Given the description of an element on the screen output the (x, y) to click on. 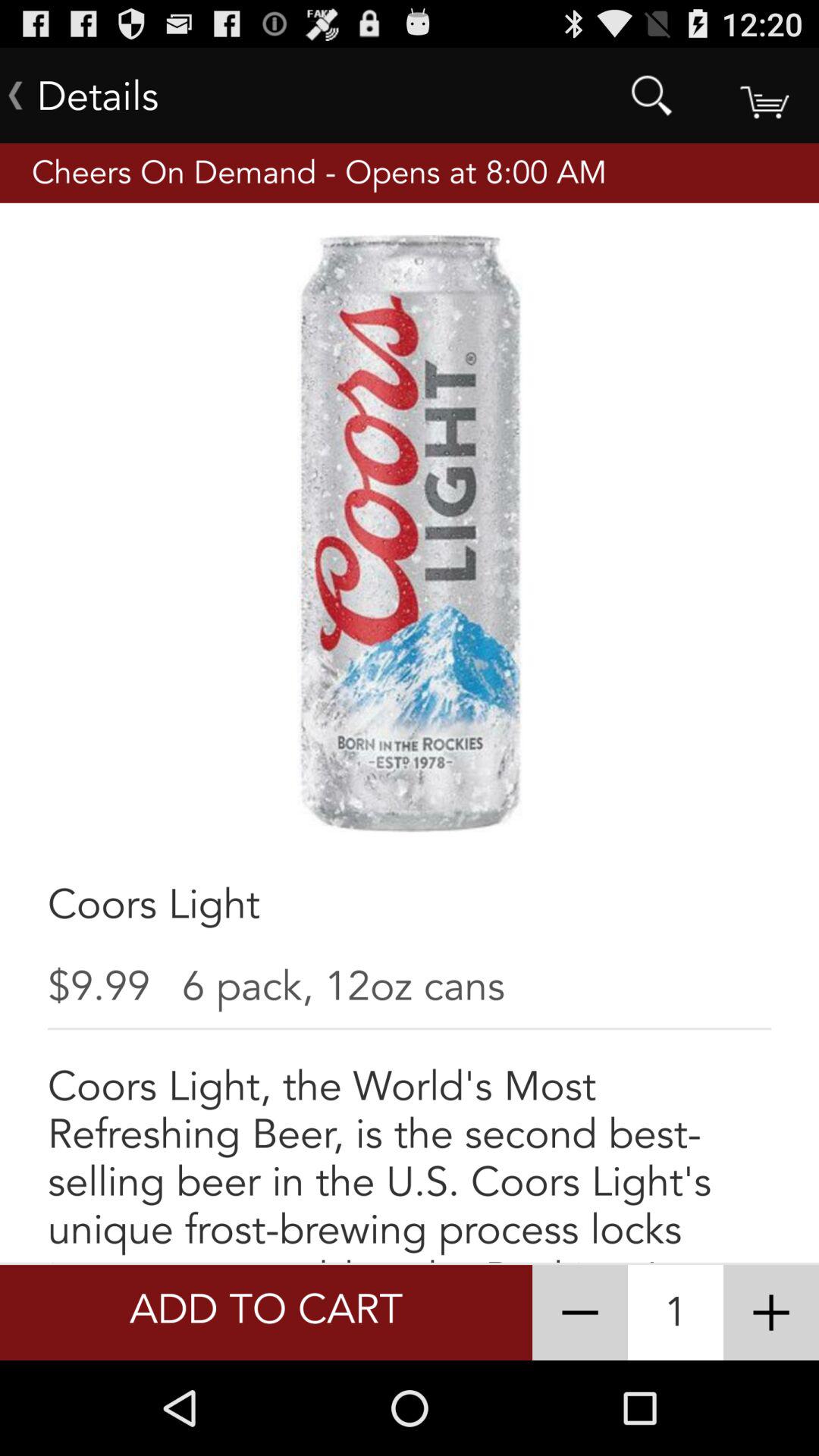
this an advertisement (771, 1312)
